Given the description of an element on the screen output the (x, y) to click on. 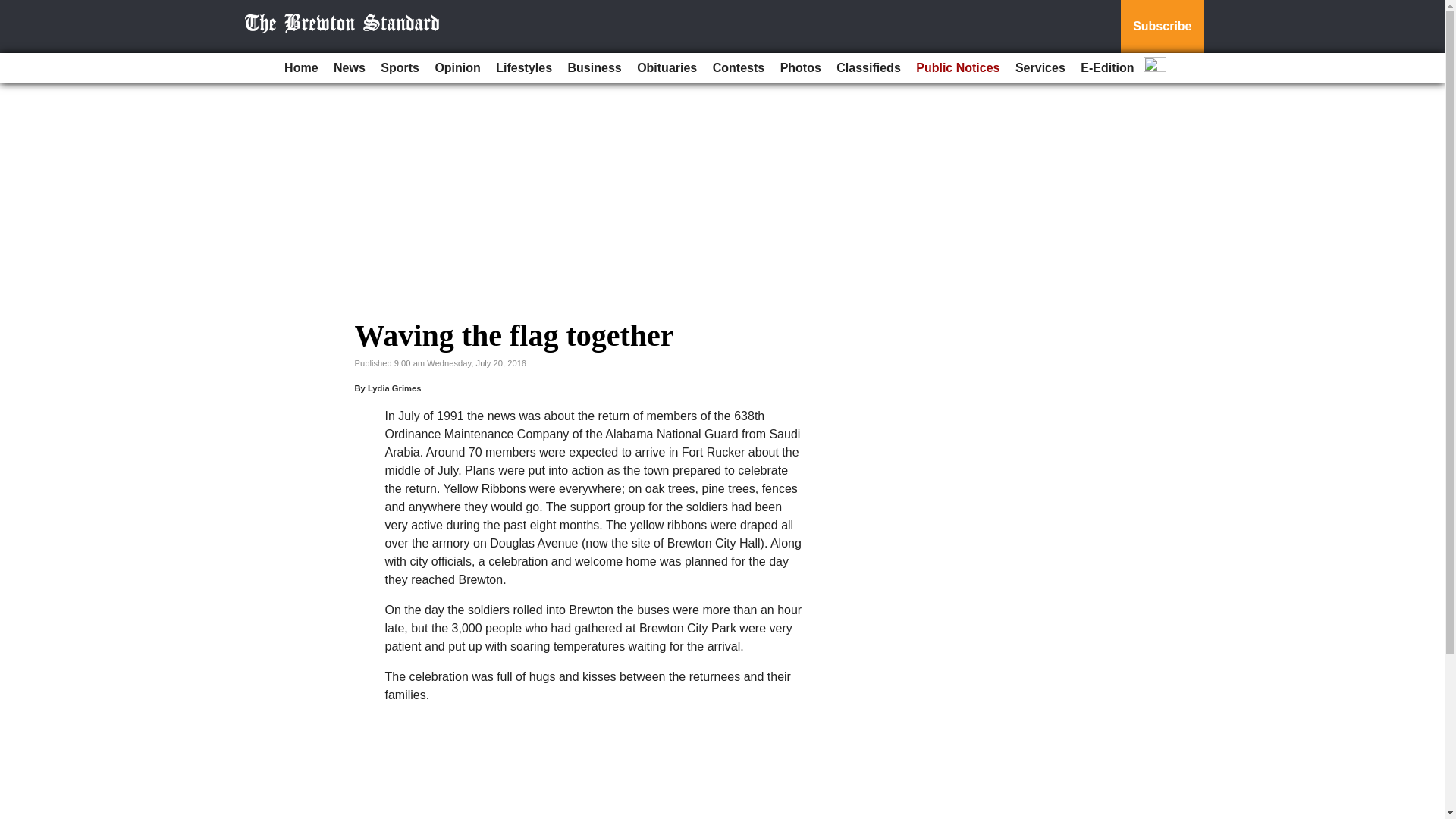
Sports (399, 68)
Public Notices (958, 68)
Lifestyles (523, 68)
Subscribe (1162, 26)
Services (1040, 68)
Classifieds (867, 68)
Go (13, 9)
News (349, 68)
Home (300, 68)
Obituaries (666, 68)
